Given the description of an element on the screen output the (x, y) to click on. 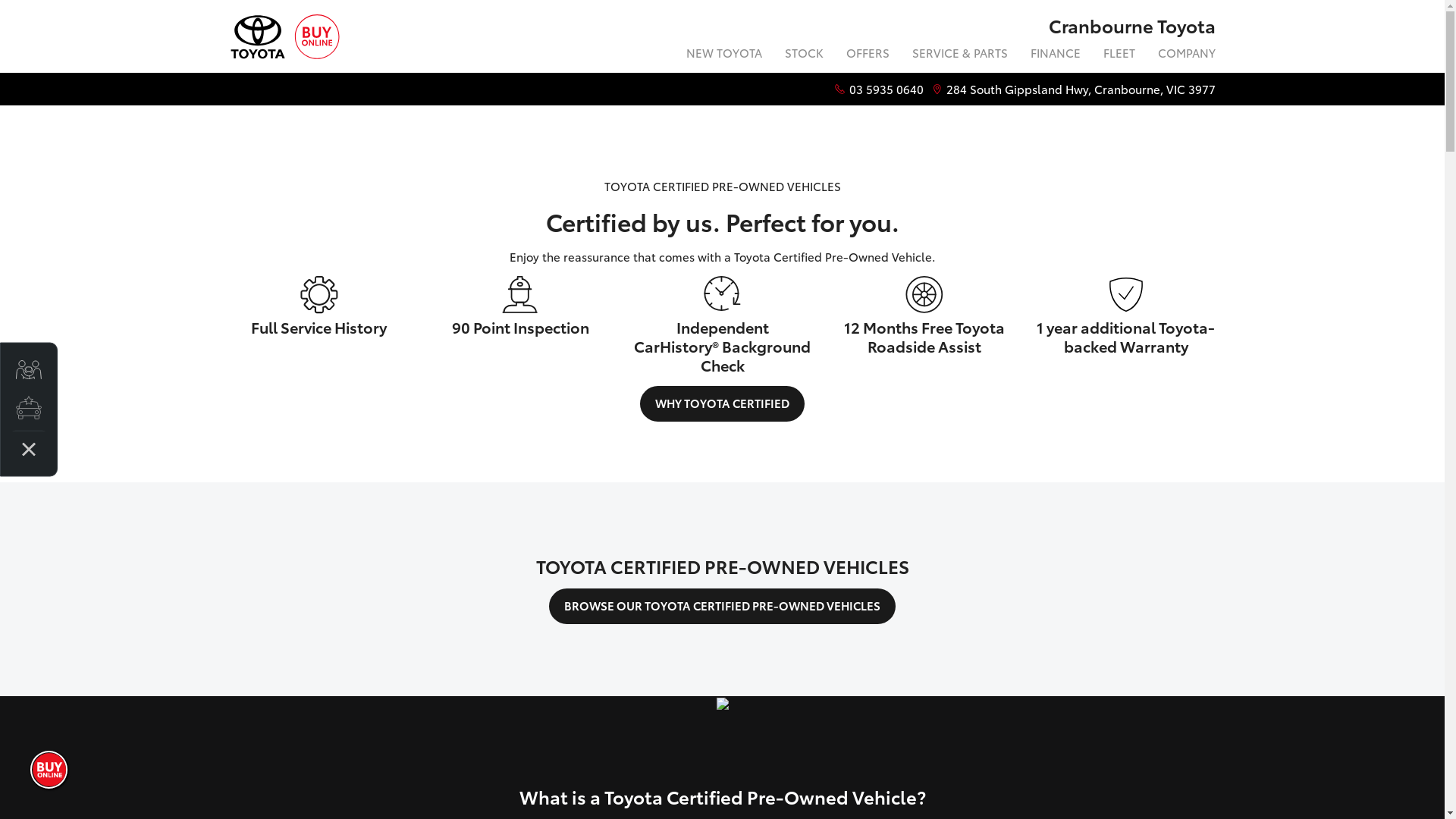
FLEET Element type: text (1119, 54)
COMPANY Element type: text (1180, 54)
FINANCE Element type: text (1055, 54)
NEW TOYOTA Element type: text (723, 54)
SERVICE & PARTS Element type: text (959, 54)
WHY TOYOTA CERTIFIED Element type: text (722, 402)
BROWSE OUR TOYOTA CERTIFIED PRE-OWNED VEHICLES Element type: text (722, 606)
03 5935 0640 Element type: text (886, 88)
OFFERS Element type: text (867, 54)
284 South Gippsland Hwy, Cranbourne, VIC 3977 Element type: text (1080, 88)
STOCK Element type: text (803, 54)
